Given the description of an element on the screen output the (x, y) to click on. 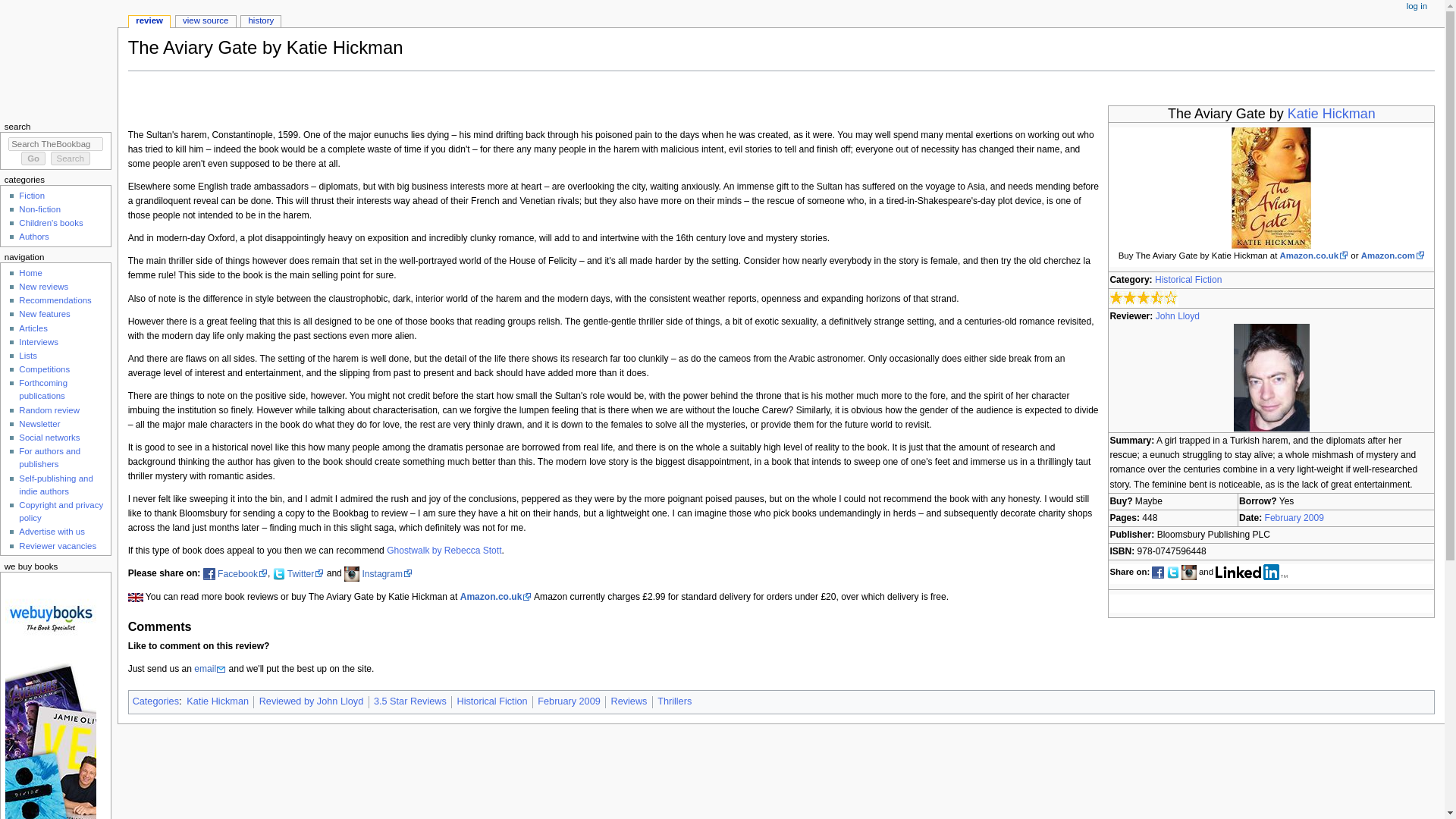
Category:Reviewed by John Lloyd (311, 701)
Special:Categories (155, 701)
Category:February 2009 (568, 701)
email (209, 668)
Amazon.co.uk (1314, 254)
Facebook (241, 573)
history (261, 21)
Category:Katie Hickman (217, 701)
February 2009 (1294, 517)
Twitter (304, 573)
Go (33, 158)
Category:Historical Fiction (492, 701)
Go (33, 158)
Category:Reviews (628, 701)
